Given the description of an element on the screen output the (x, y) to click on. 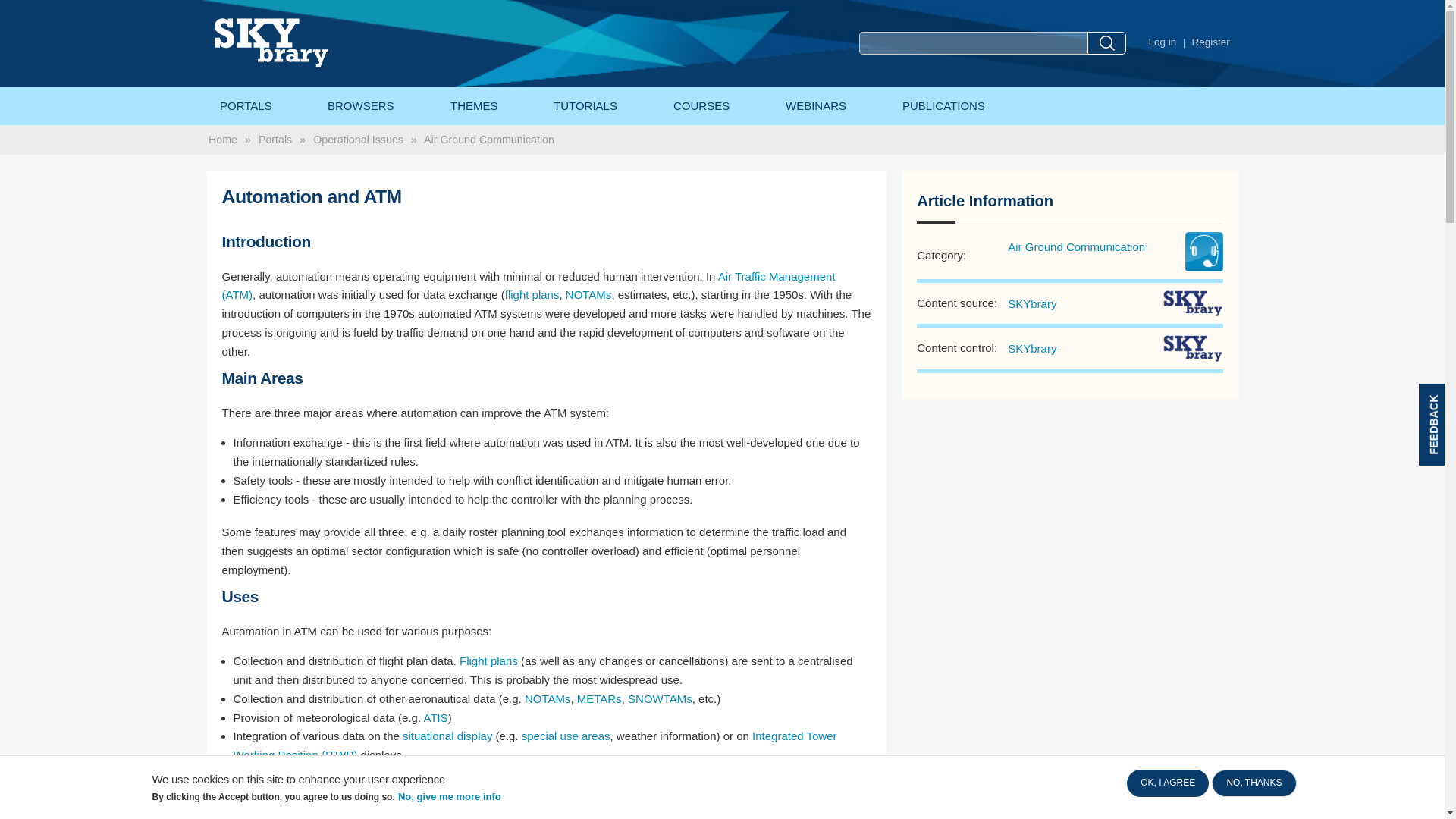
Home (302, 27)
Search (1106, 42)
Enter the terms you wish to search for. (973, 42)
Register (1211, 42)
Log in (1162, 42)
PORTALS (244, 74)
Search (1106, 42)
